Given the description of an element on the screen output the (x, y) to click on. 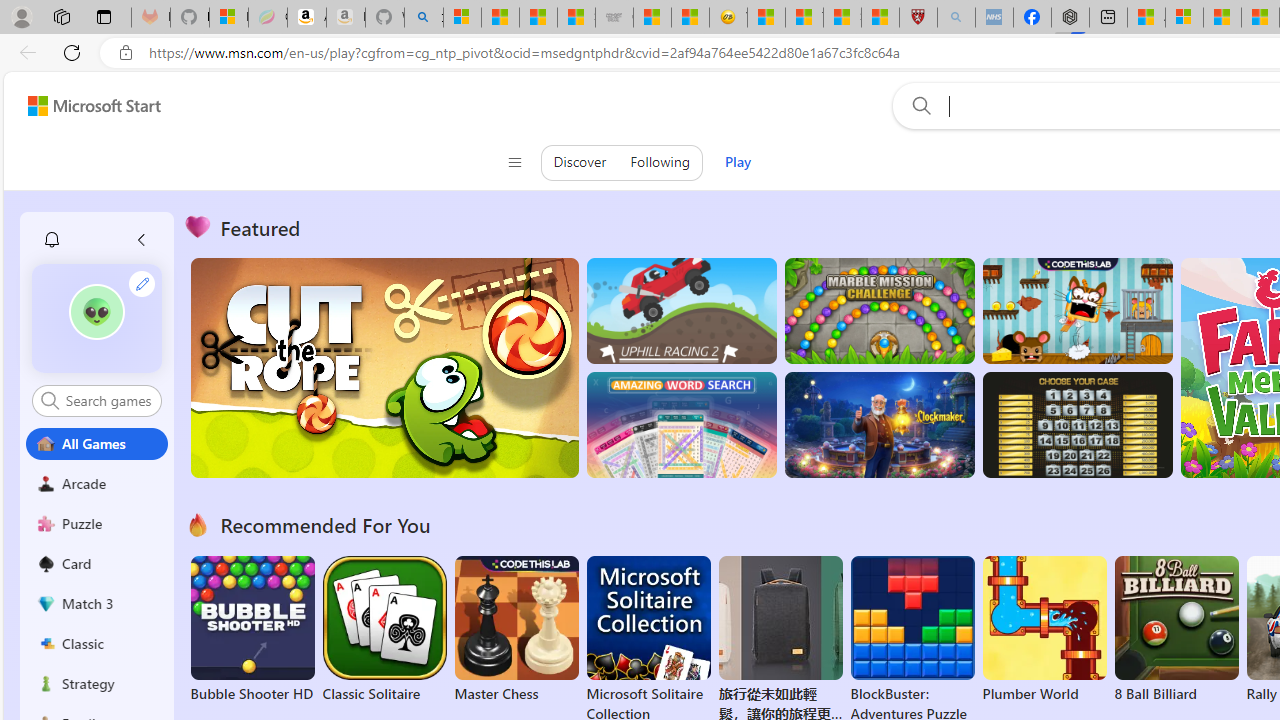
Class: profile-edit (142, 283)
Master Chess (516, 629)
Squicky (1076, 310)
